Given the description of an element on the screen output the (x, y) to click on. 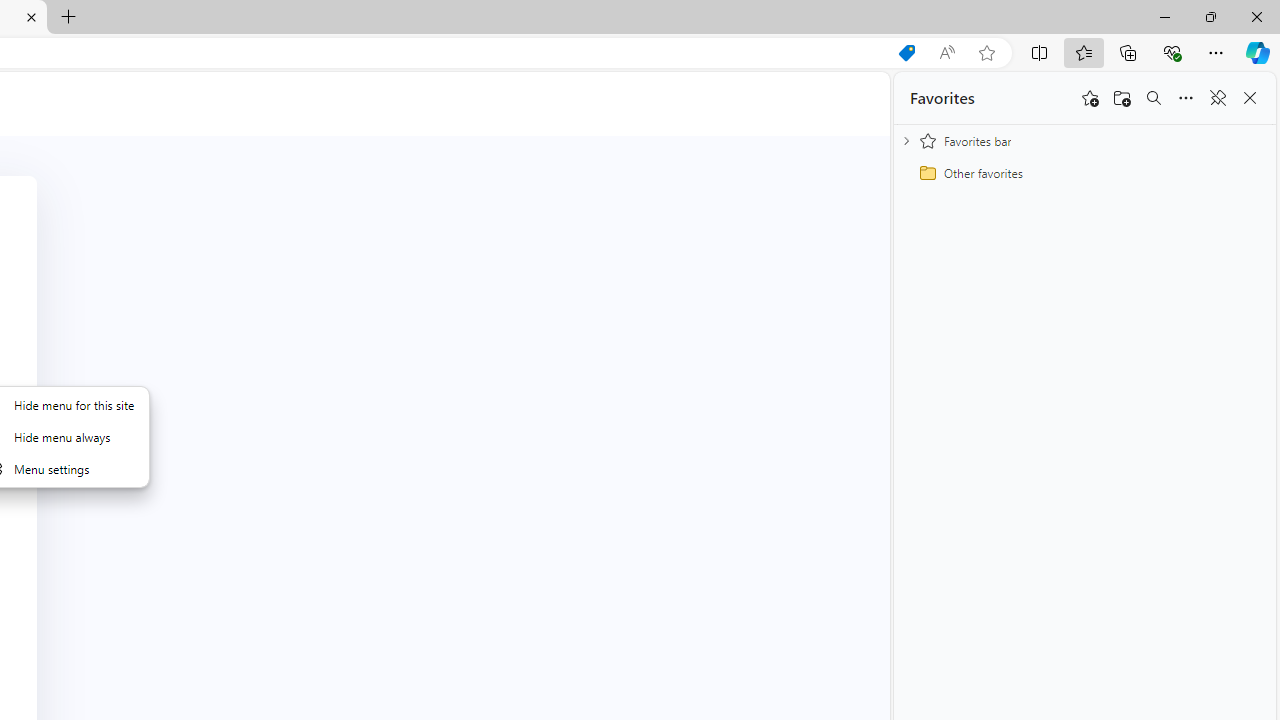
Add this page to favorites (1089, 98)
